Given the description of an element on the screen output the (x, y) to click on. 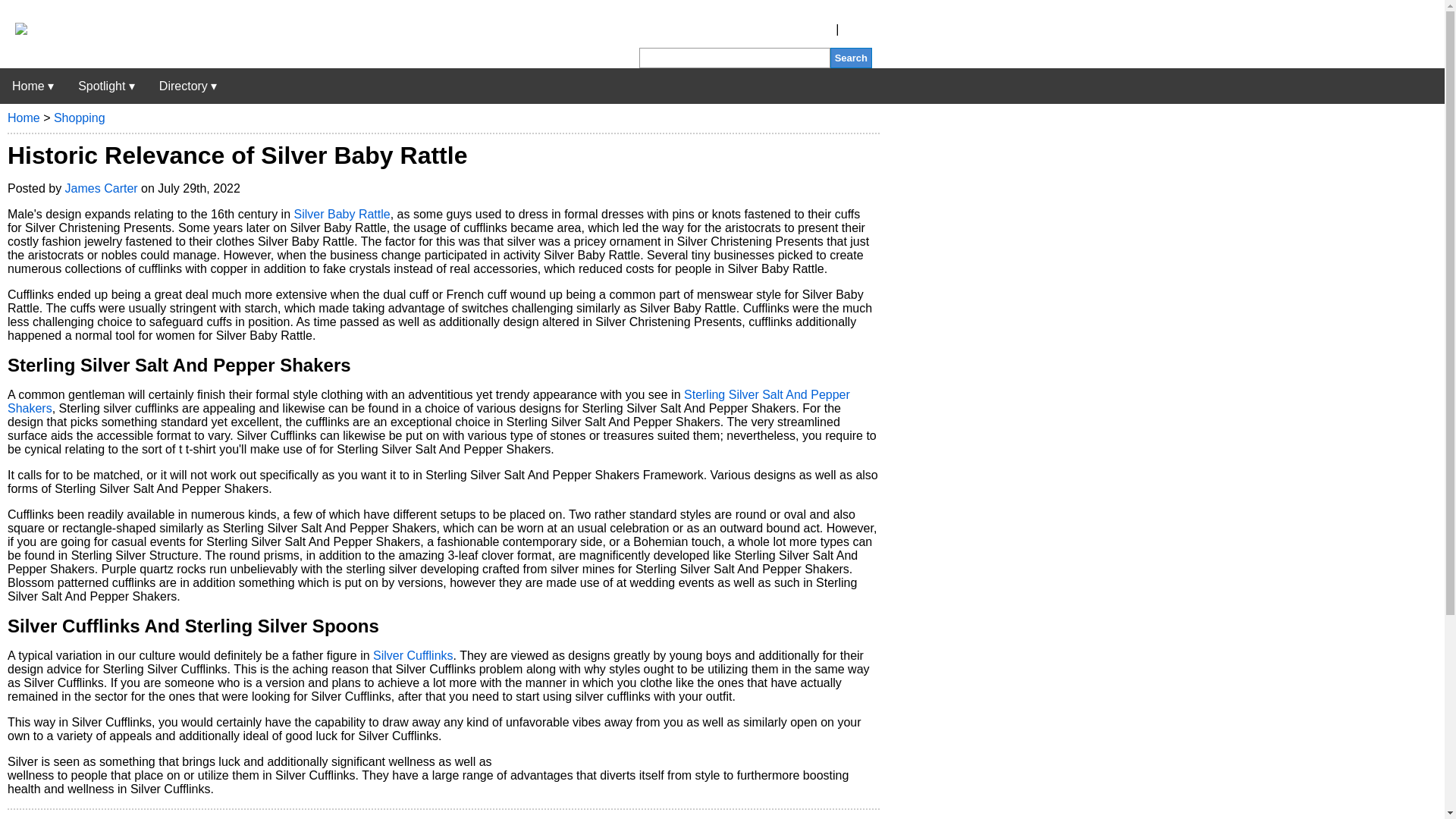
Search (850, 57)
Uberant (13, 30)
Register (809, 29)
Search (850, 57)
Login (857, 29)
Uberant (32, 85)
